Given the description of an element on the screen output the (x, y) to click on. 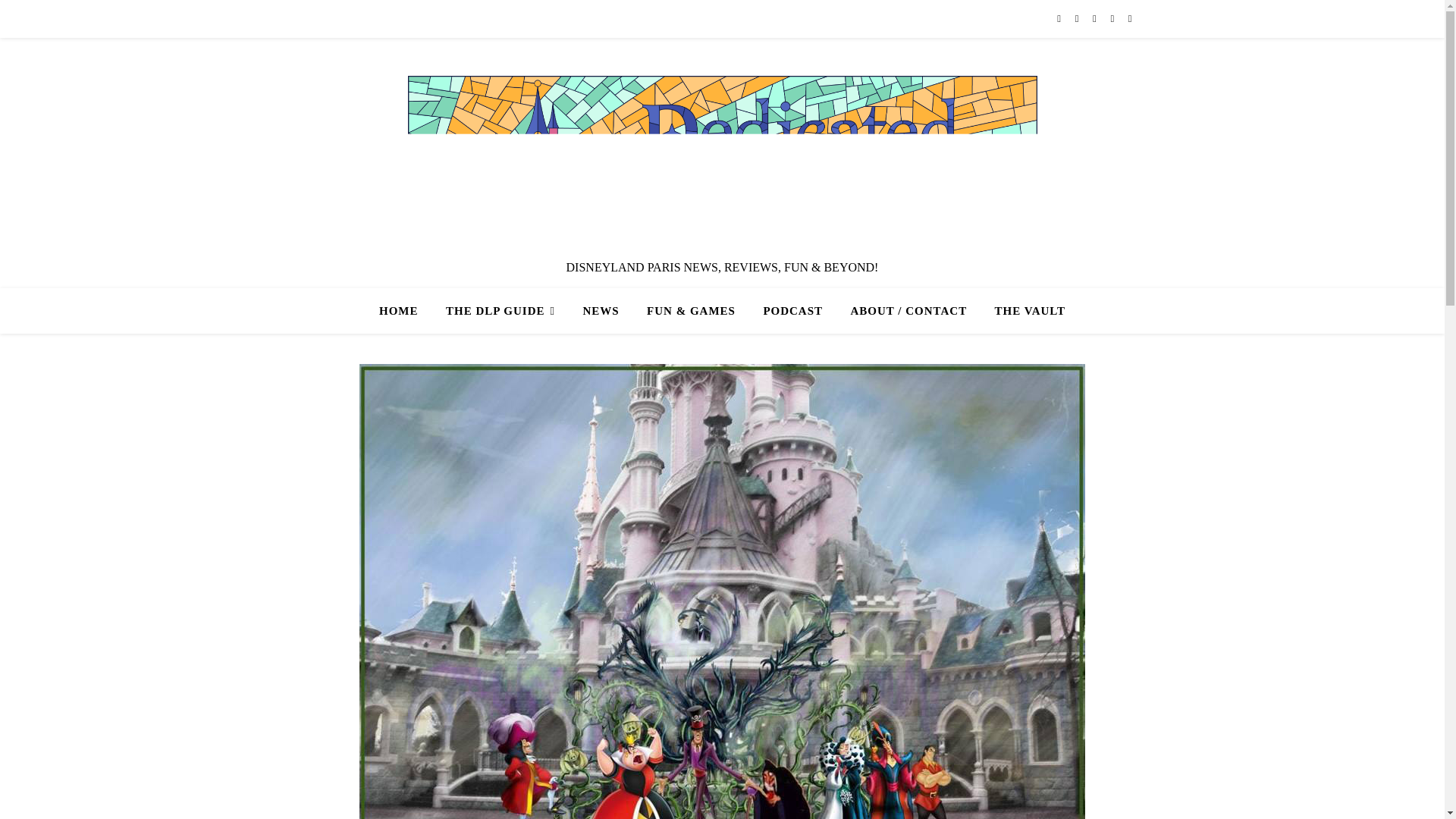
THE DLP GUIDE (500, 310)
THE VAULT (1023, 310)
PODCAST (792, 310)
Dedicated To DLP (721, 162)
NEWS (600, 310)
HOME (404, 310)
